Given the description of an element on the screen output the (x, y) to click on. 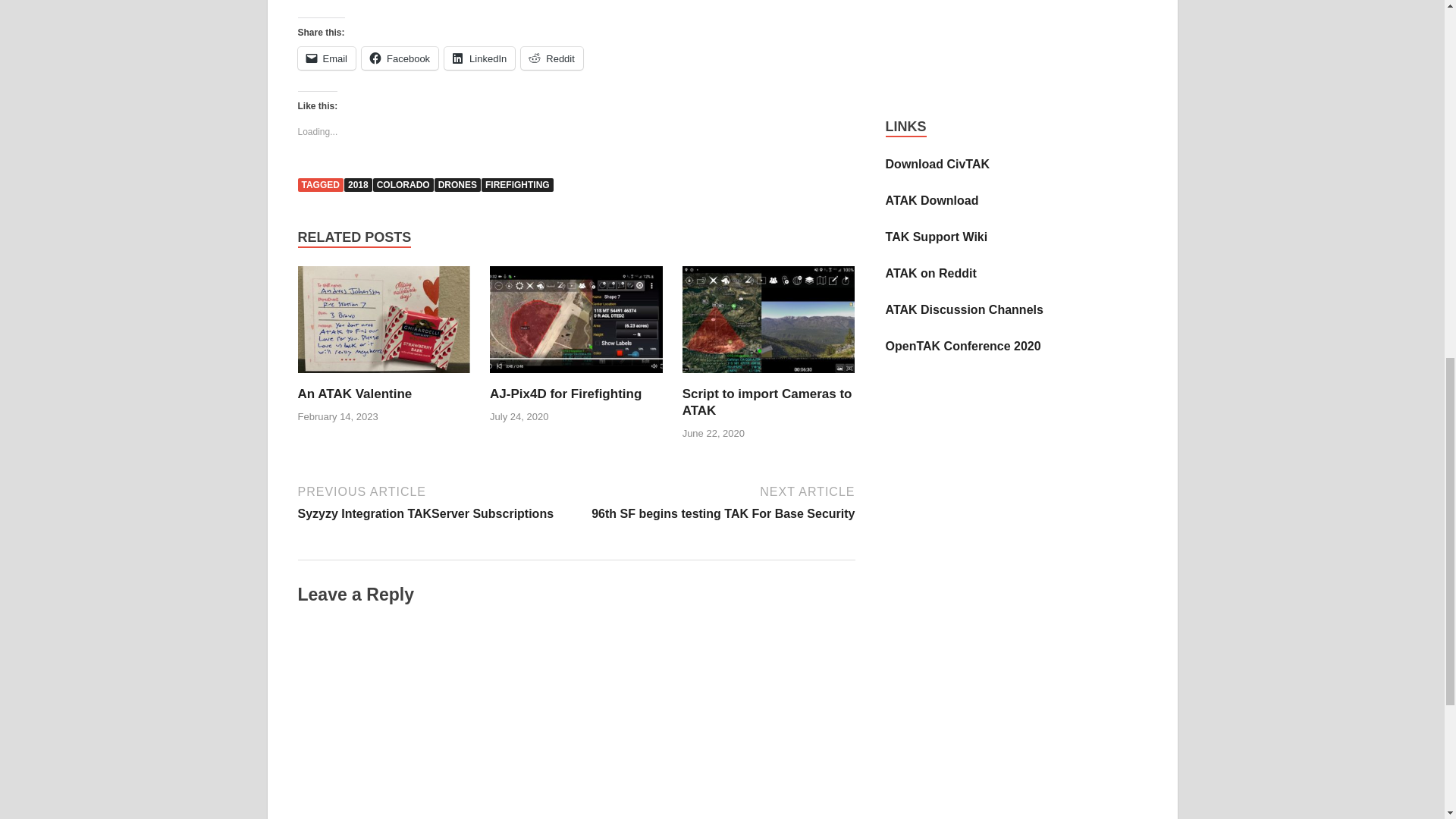
Script to import Cameras to ATAK (769, 324)
AJ-Pix4D for Firefighting (565, 393)
2018 (357, 184)
An ATAK Valentine (354, 393)
Click to share on LinkedIn (479, 57)
Click to share on Facebook (399, 57)
Email (326, 57)
Click to share on Reddit (552, 57)
Reddit (552, 57)
An ATAK Valentine (383, 324)
